Given the description of an element on the screen output the (x, y) to click on. 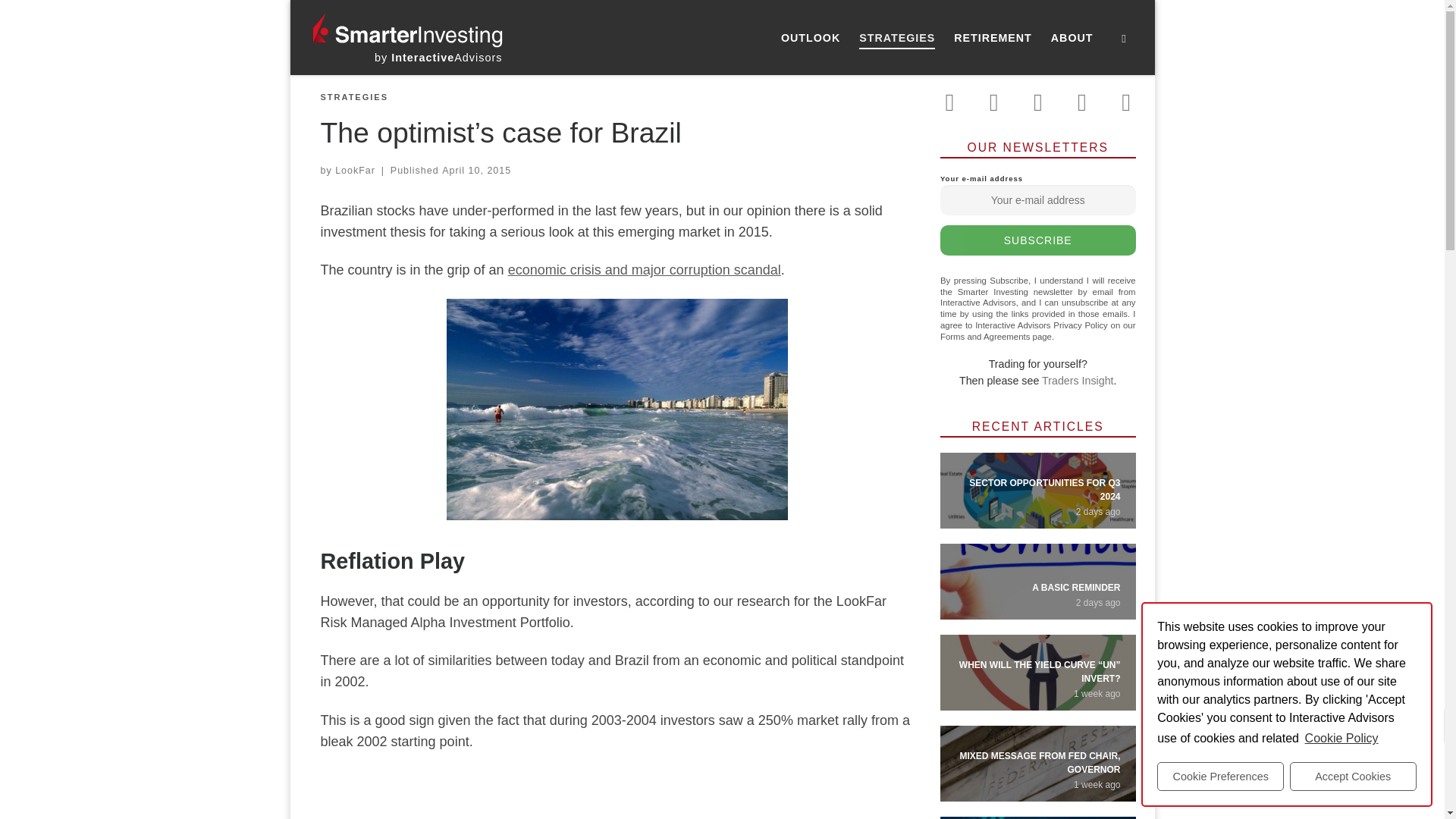
ABOUT (1071, 38)
Interactive Advisors (438, 57)
STRATEGIES (897, 38)
Subscribe (1037, 240)
STRATEGIES (353, 97)
Skip to content (60, 20)
RETIREMENT (992, 38)
by InteractiveAdvisors (438, 57)
LookFar (354, 170)
economic crisis and major corruption scandal (644, 269)
View all posts in Strategies (353, 97)
April 10, 2015 (476, 170)
OUTLOOK (810, 38)
View all posts by LookFar (354, 170)
